Given the description of an element on the screen output the (x, y) to click on. 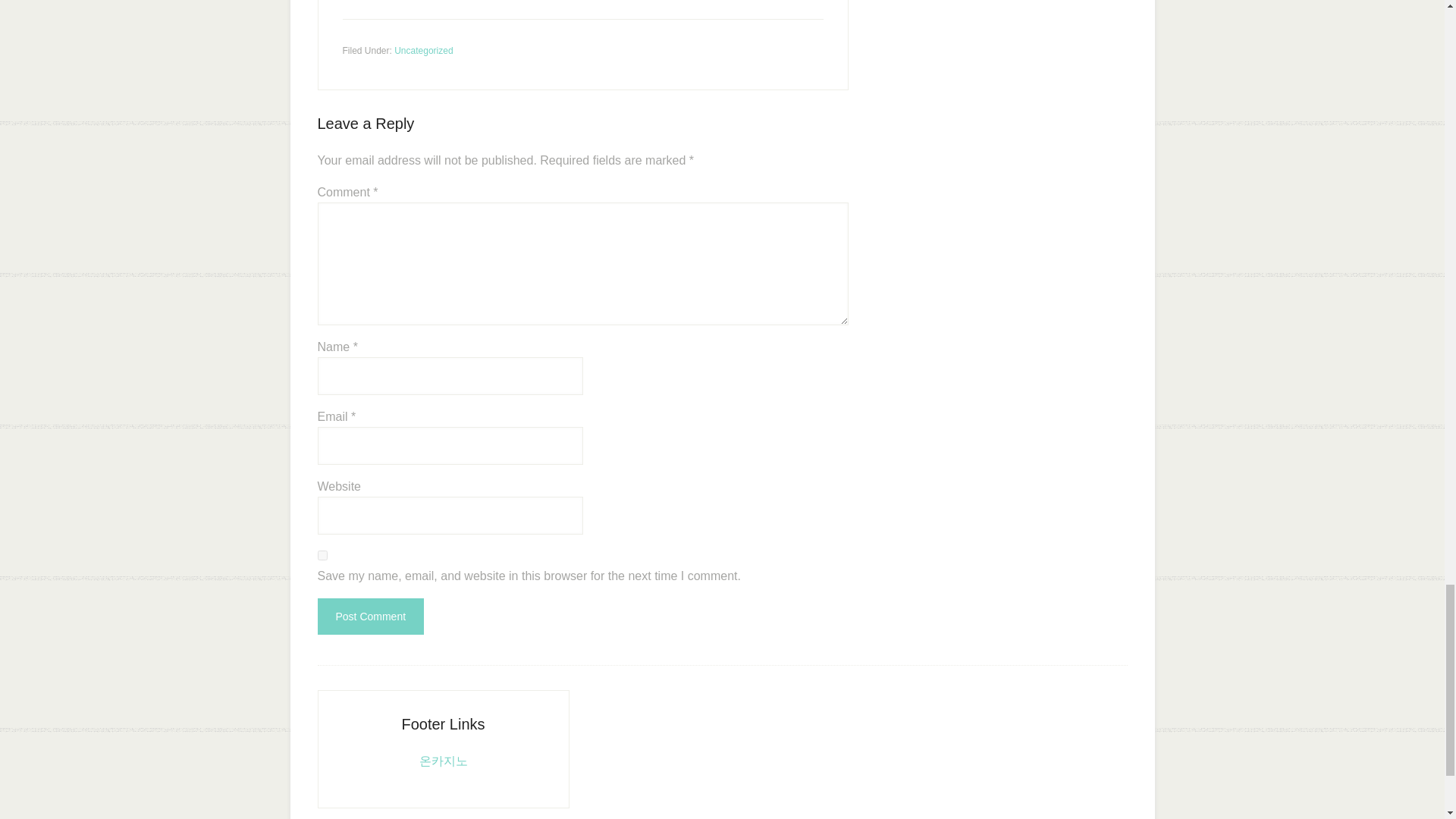
Post Comment (370, 616)
Uncategorized (423, 50)
yes (321, 555)
Post Comment (370, 616)
